Given the description of an element on the screen output the (x, y) to click on. 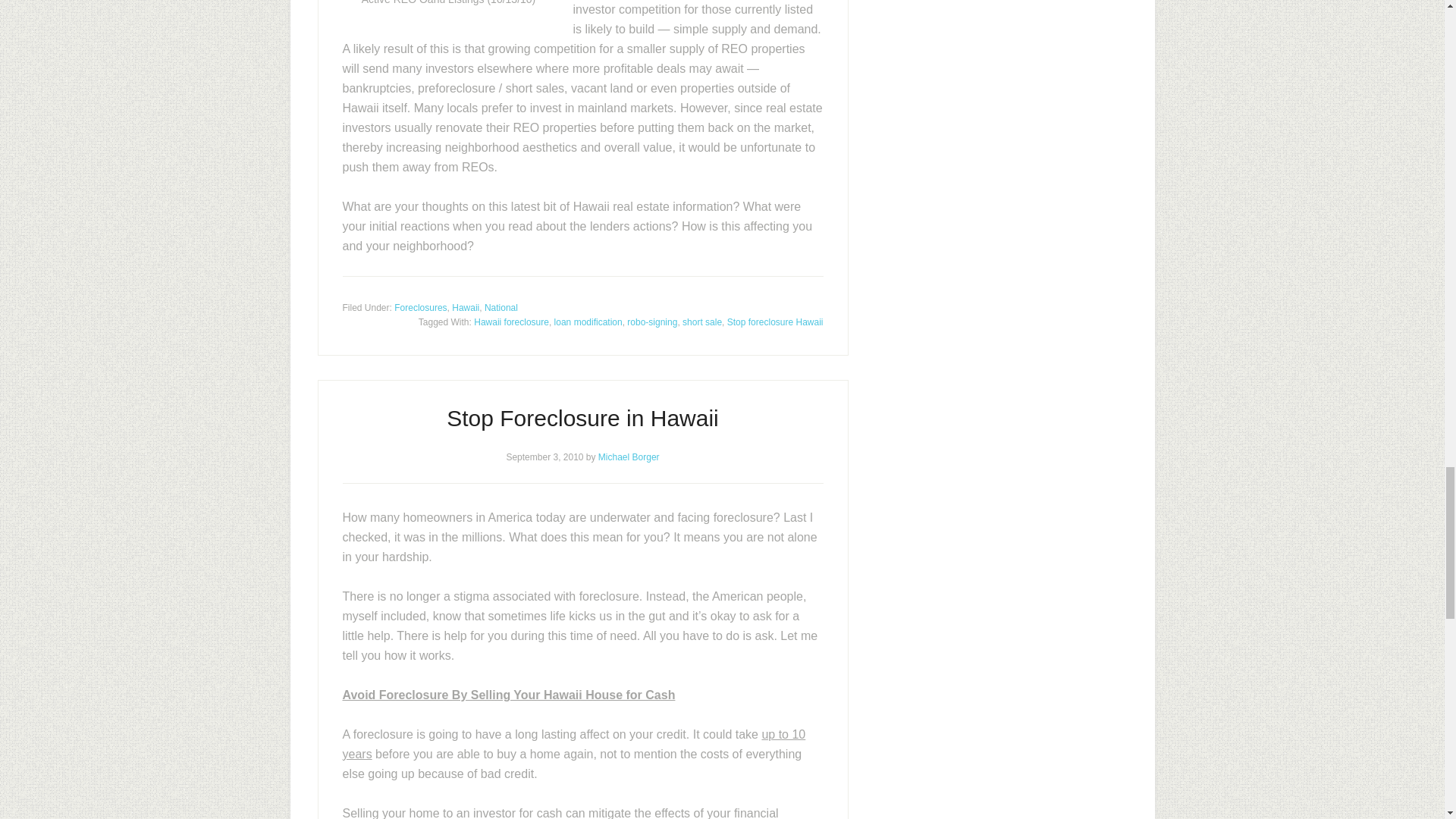
loan modification (588, 321)
Stop foreclosure Hawaii (775, 321)
Foreclosures (420, 307)
short sale (702, 321)
Hawaii (465, 307)
robo-signing (652, 321)
Stop Foreclosure in Hawaii (582, 416)
National (501, 307)
Michael Borger (628, 457)
Hawaii foreclosure (511, 321)
